Given the description of an element on the screen output the (x, y) to click on. 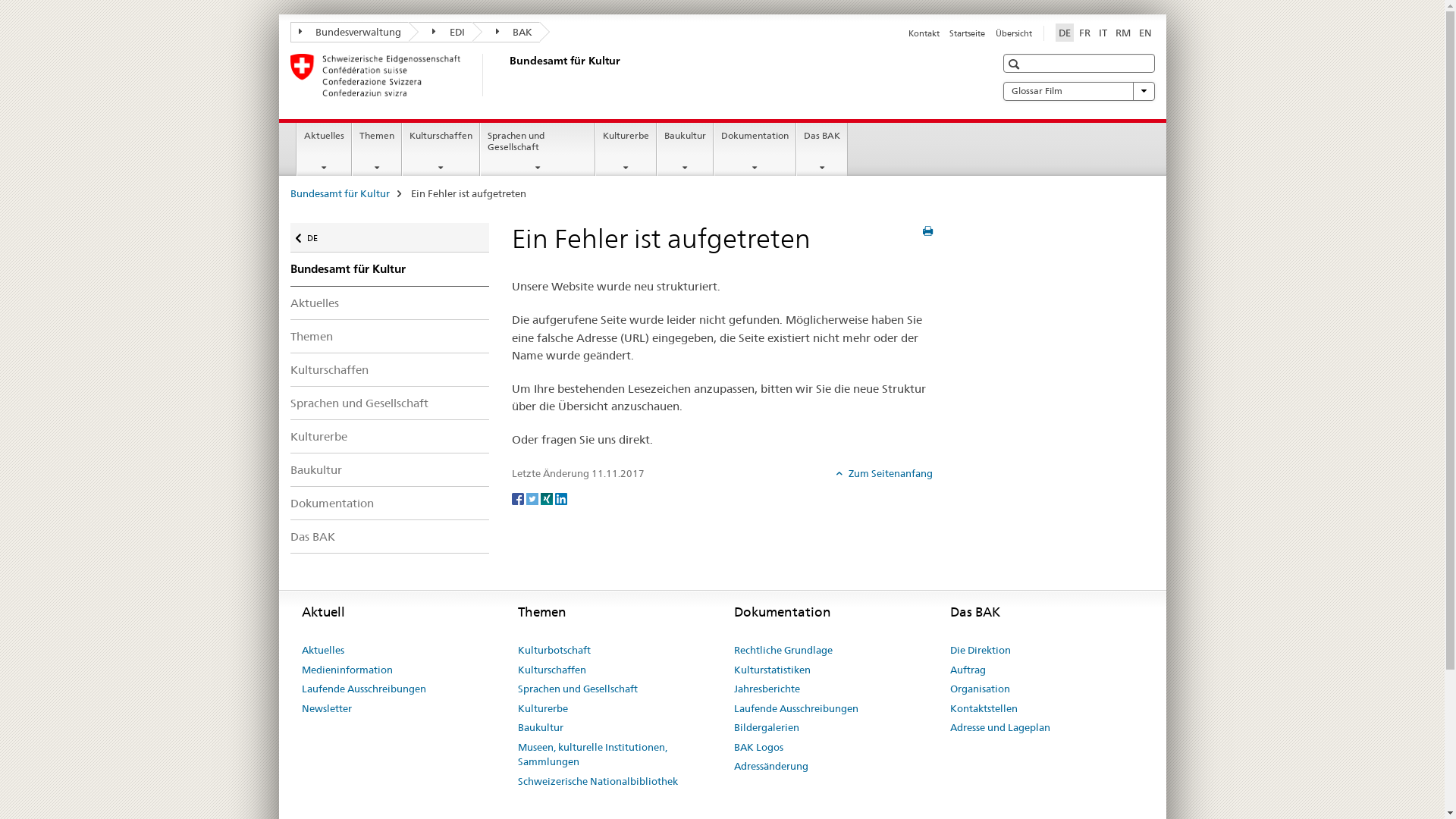
Kulturstatistiken Element type: text (772, 670)
FR Element type: text (1083, 32)
Dokumentation Element type: text (389, 502)
Bildergalerien Element type: text (766, 727)
Jahresberichte Element type: text (767, 689)
Kulturschaffen Element type: text (551, 670)
DE Element type: text (1064, 32)
Sprachen und Gesellschaft Element type: text (537, 148)
Baukultur Element type: text (684, 148)
Seite drucken Element type: hover (927, 230)
Rechtliche Grundlage Element type: text (783, 650)
Organisation Element type: text (979, 689)
IT Element type: text (1102, 32)
Bundesverwaltung Element type: text (348, 31)
Kulturerbe Element type: text (389, 436)
Newsletter Element type: text (326, 708)
Kontakt Element type: text (923, 33)
Dokumentation Element type: text (754, 148)
Zum Seitenanfang Element type: text (884, 473)
Das BAK Element type: text (389, 536)
EDI Element type: text (440, 31)
Startseite Element type: text (967, 33)
Baukultur Element type: text (389, 469)
Aktuelles Element type: text (389, 302)
Sprachen und Gesellschaft Element type: text (389, 402)
Aktuelles Element type: text (324, 148)
Auftrag Element type: text (967, 670)
Kulturschaffen Element type: text (440, 148)
RM Element type: text (1121, 32)
Baukultur Element type: text (539, 727)
Museen, kulturelle Institutionen, Sammlungen Element type: text (613, 754)
Themen Element type: text (376, 148)
Aktuelles Element type: text (322, 650)
Schweizerische Nationalbibliothek Element type: text (597, 781)
Laufende Ausschreibungen Element type: text (796, 708)
Das BAK Element type: text (822, 148)
Glossar Film Element type: text (1078, 90)
Kulturbotschaft Element type: text (553, 650)
Medieninformation Element type: text (346, 670)
Laufende Ausschreibungen Element type: text (363, 689)
Kulturschaffen Element type: text (389, 369)
Adresse und Lageplan Element type: text (999, 727)
BAK Element type: text (505, 31)
Kulturerbe Element type: text (625, 148)
Sprachen und Gesellschaft Element type: text (577, 689)
Die Direktion Element type: text (979, 650)
Kulturerbe Element type: text (542, 708)
EN Element type: text (1144, 32)
BAK Logos Element type: text (758, 747)
Themen Element type: text (389, 336)
Kontaktstellen Element type: text (982, 708)
